Given the description of an element on the screen output the (x, y) to click on. 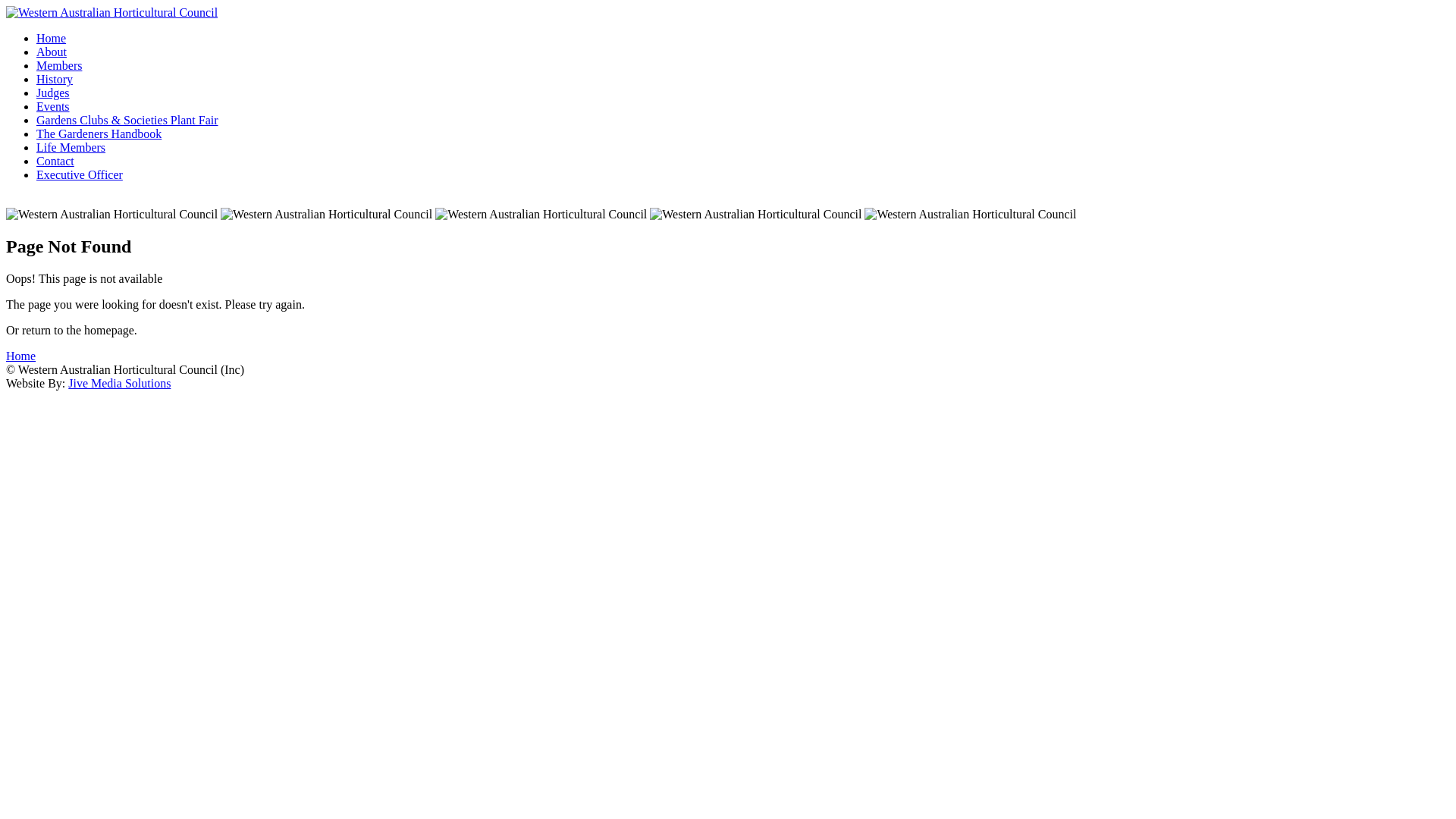
Executive Officer Element type: text (79, 174)
Home Element type: text (50, 37)
The Gardeners Handbook Element type: text (98, 133)
Life Members Element type: text (70, 147)
Contact Element type: text (55, 160)
Gardens Clubs & Societies Plant Fair Element type: text (127, 119)
Events Element type: text (52, 106)
About Element type: text (51, 51)
History Element type: text (54, 78)
Home Element type: text (20, 355)
Members Element type: text (58, 65)
Jive Media Solutions Element type: text (119, 382)
Judges Element type: text (52, 92)
